Given the description of an element on the screen output the (x, y) to click on. 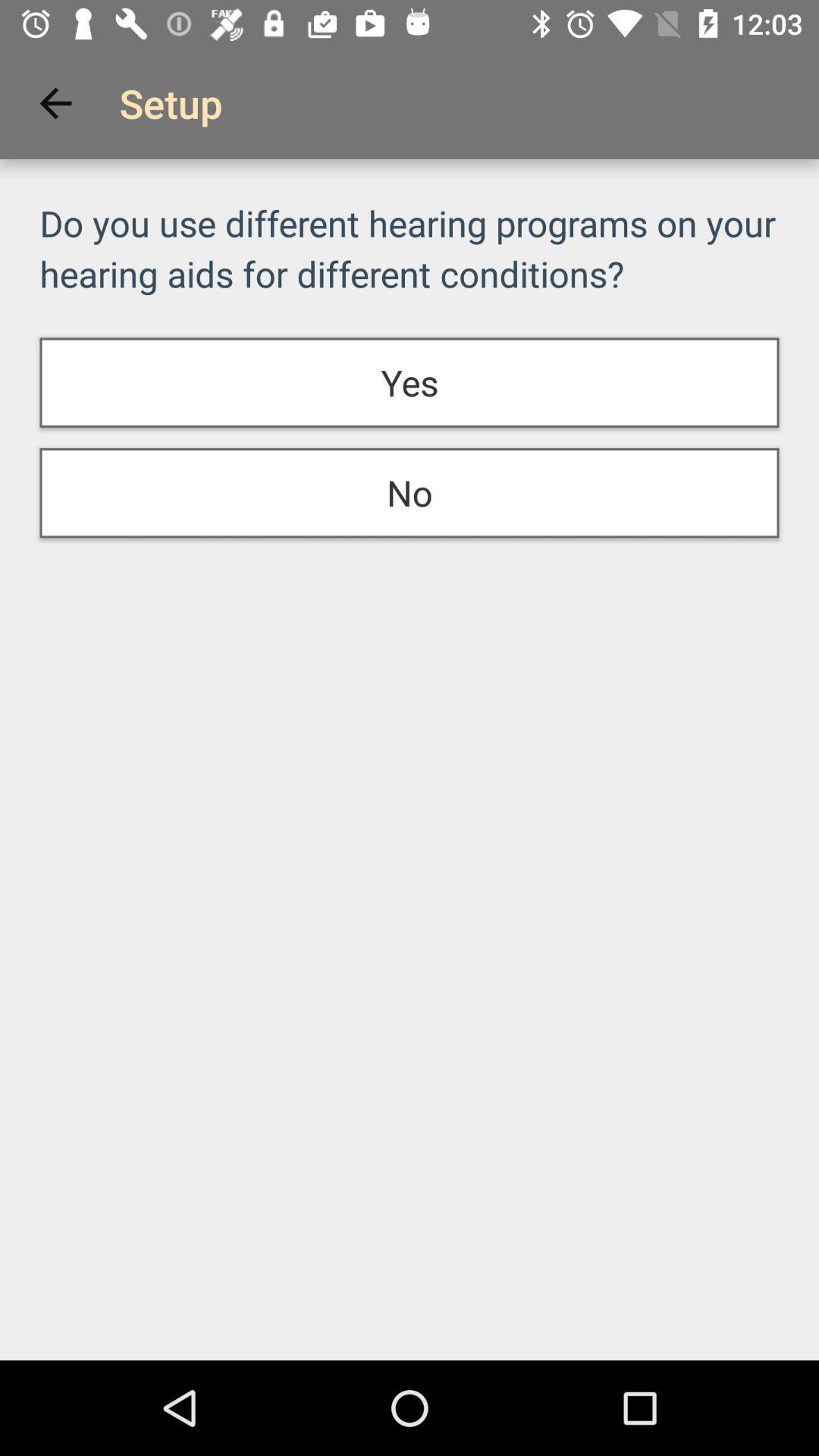
launch the item below yes icon (409, 493)
